Given the description of an element on the screen output the (x, y) to click on. 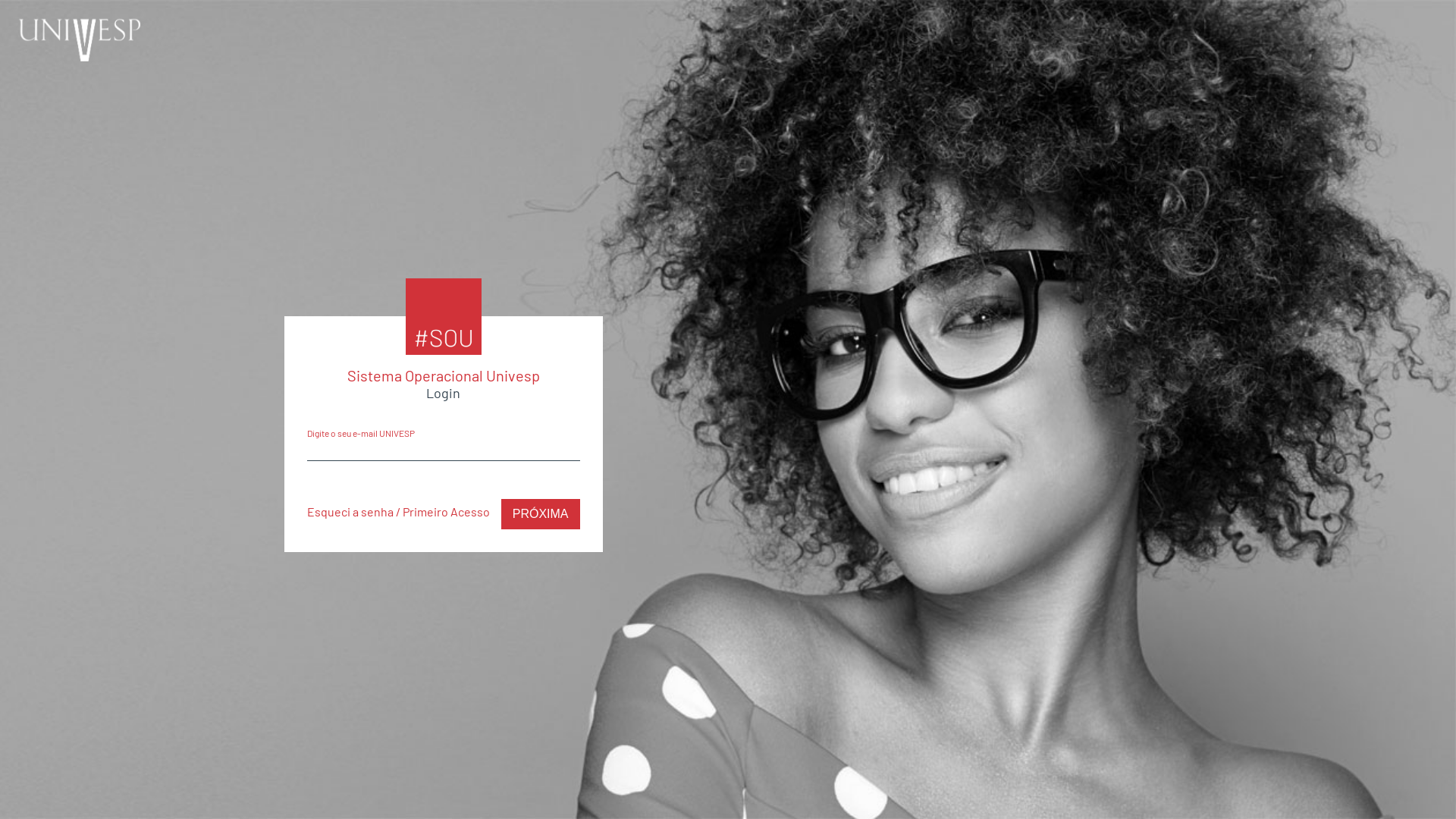
Esqueci a senha / Primeiro Acesso Element type: text (397, 511)
